Given the description of an element on the screen output the (x, y) to click on. 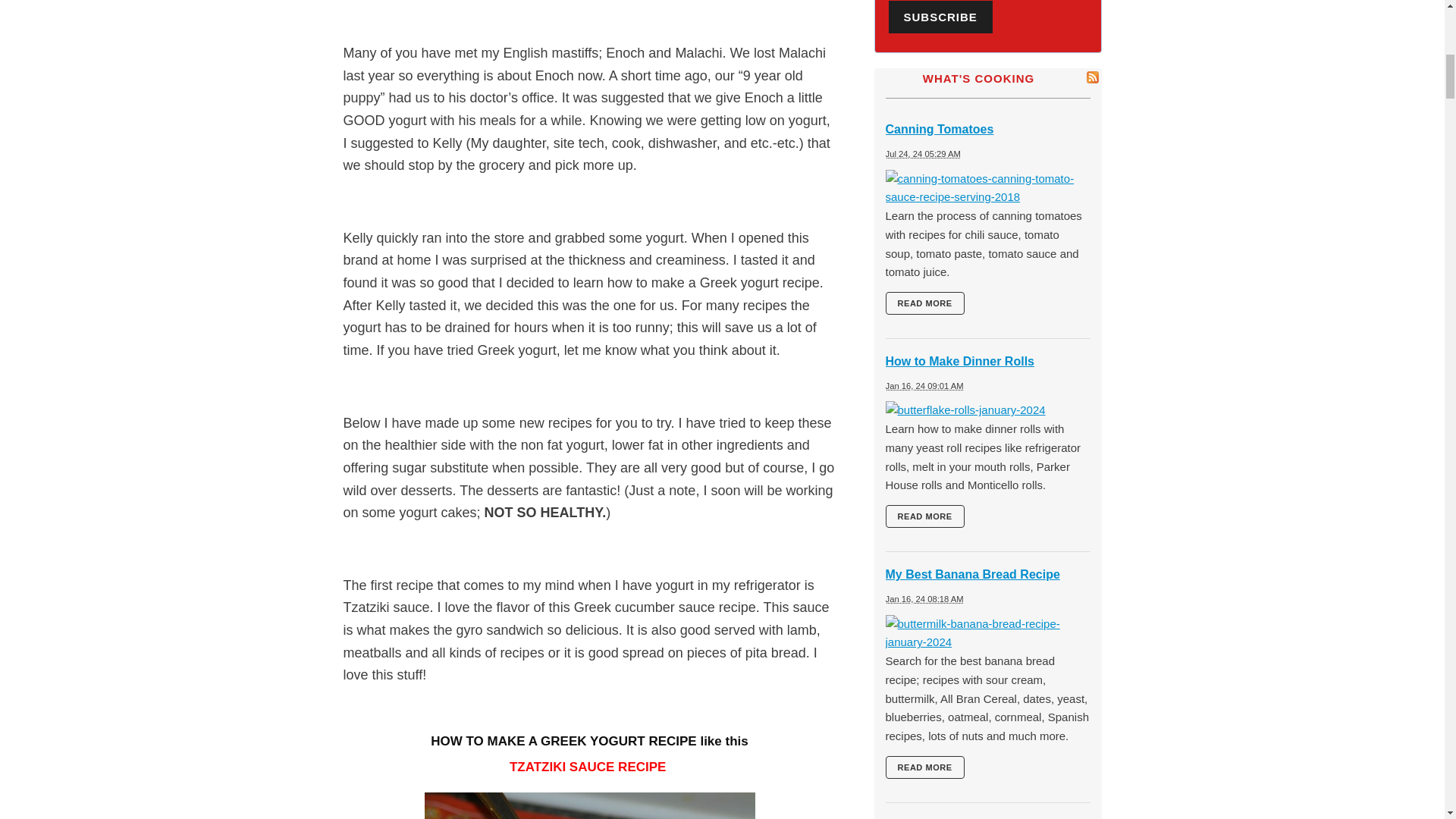
Tzatziki Sauce Recipe (590, 805)
